Given the description of an element on the screen output the (x, y) to click on. 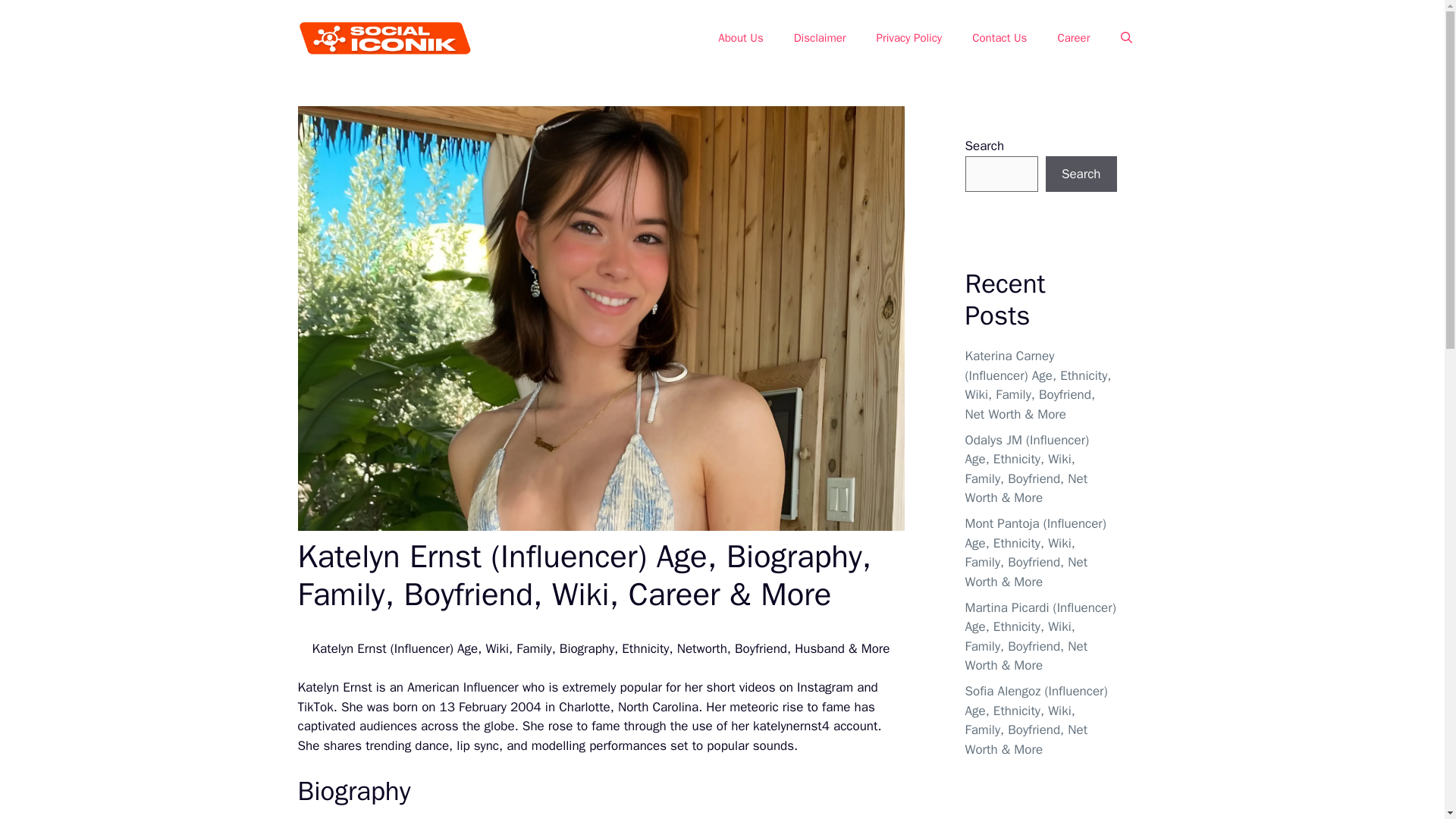
Search (1080, 174)
Disclaimer (819, 37)
Privacy Policy (909, 37)
Contact Us (999, 37)
About Us (740, 37)
Career (1073, 37)
